Given the description of an element on the screen output the (x, y) to click on. 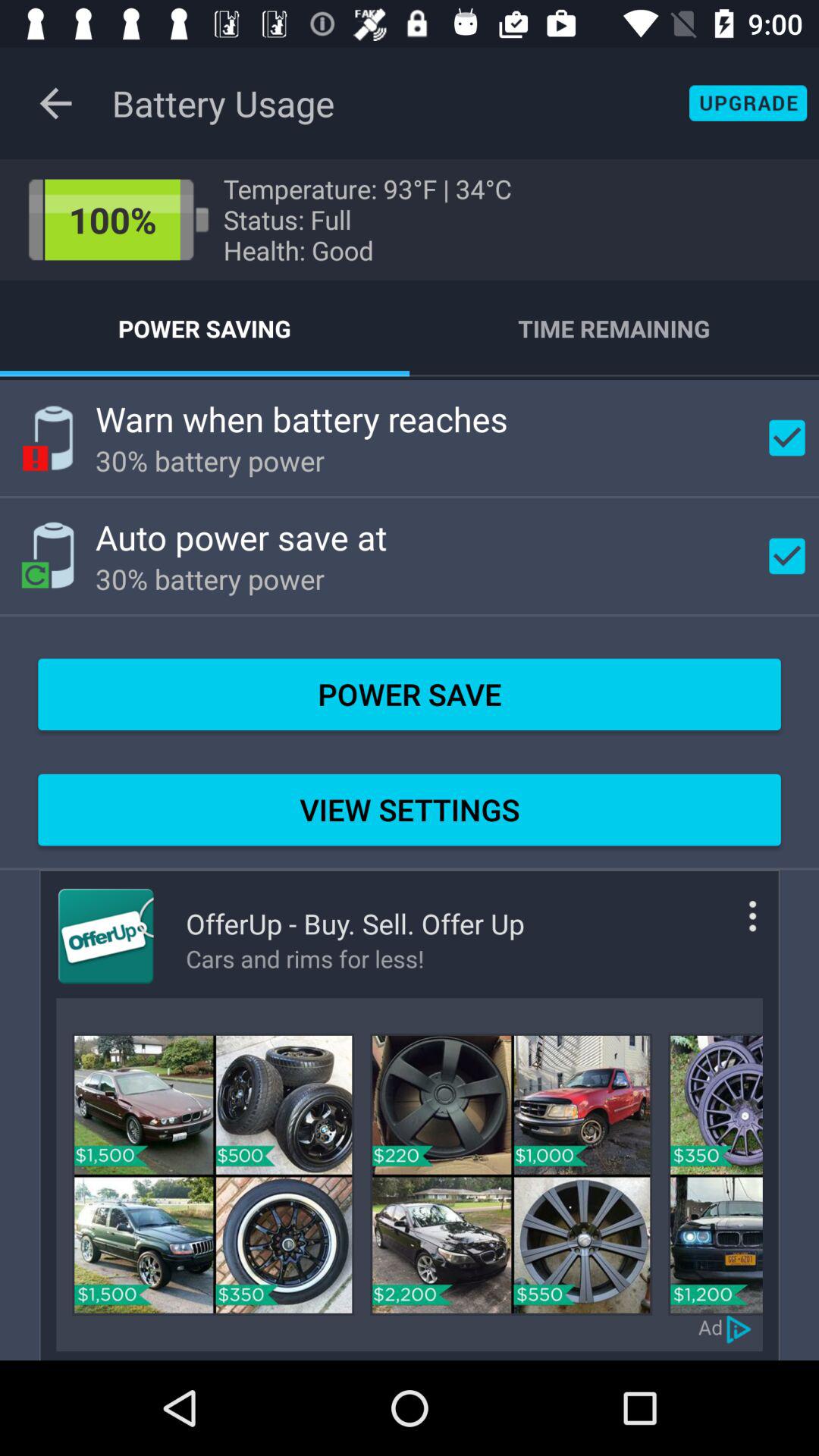
press the view settings item (409, 809)
